Given the description of an element on the screen output the (x, y) to click on. 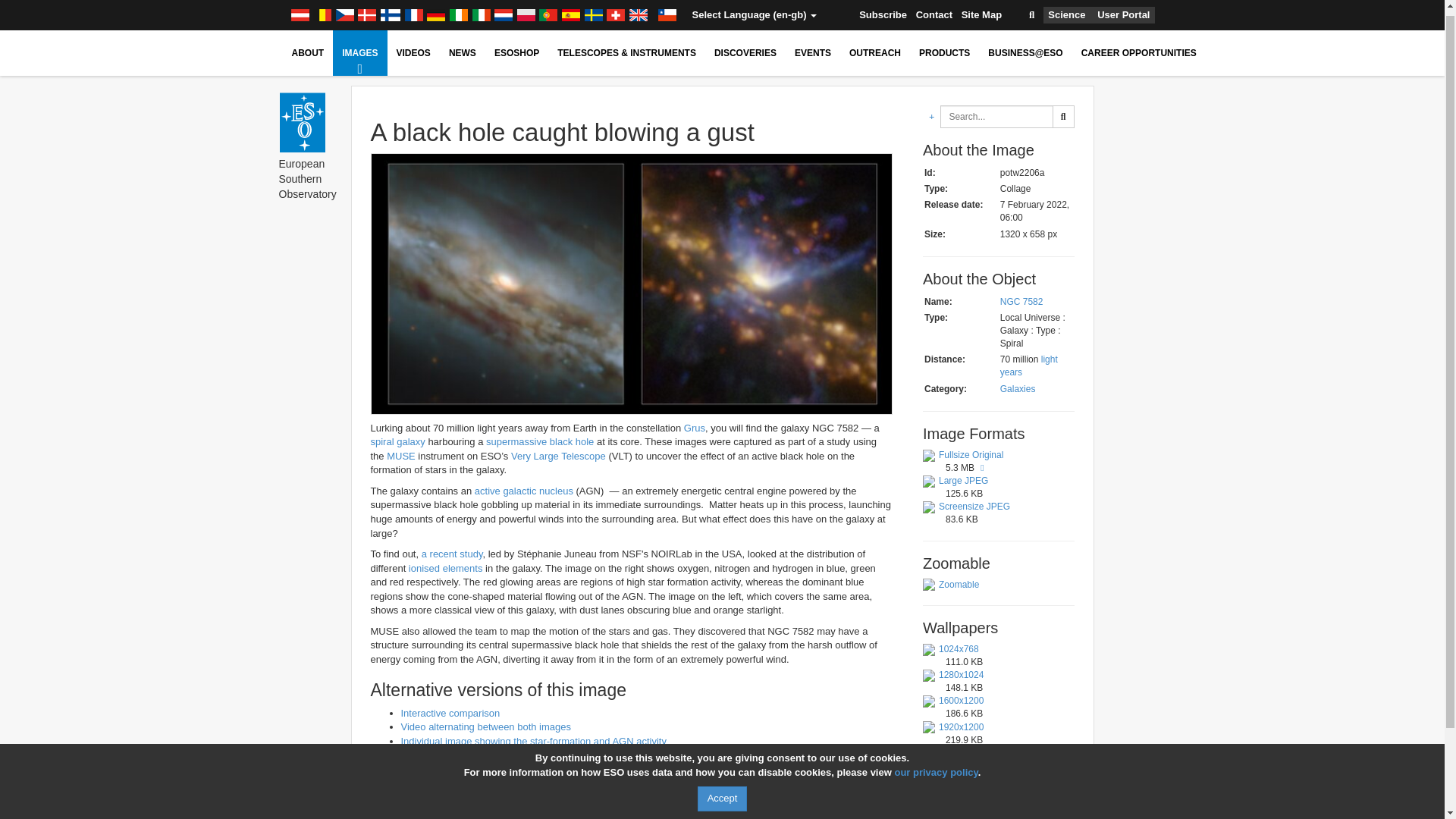
France (413, 8)
Site Map (981, 12)
Finland (390, 8)
Subscribe (883, 12)
Italy (481, 8)
Ireland (458, 8)
Czechia (344, 8)
Portugal (547, 8)
Belgium (322, 8)
Sweden (593, 8)
